Given the description of an element on the screen output the (x, y) to click on. 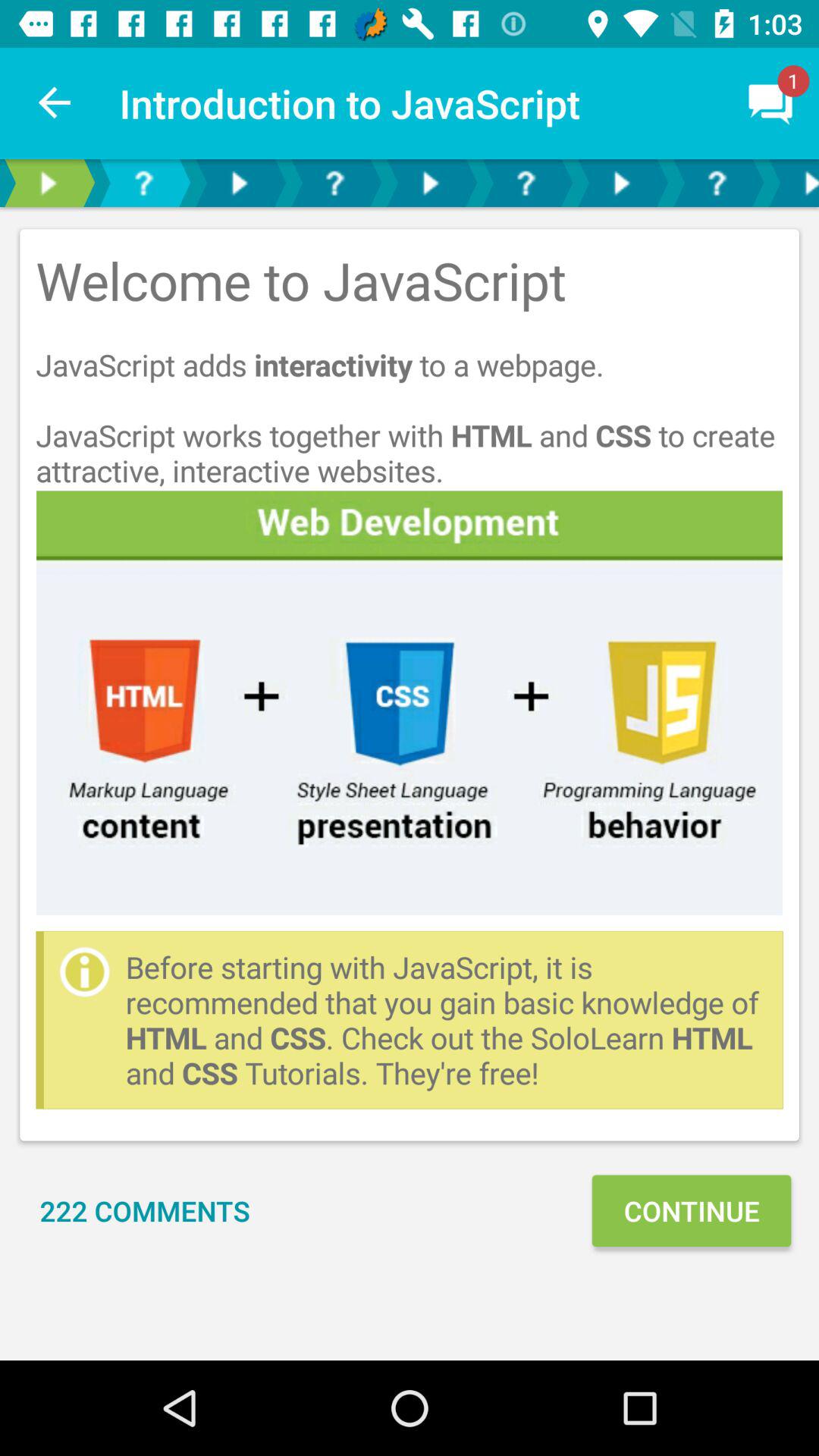
swipe to the continue icon (691, 1210)
